Given the description of an element on the screen output the (x, y) to click on. 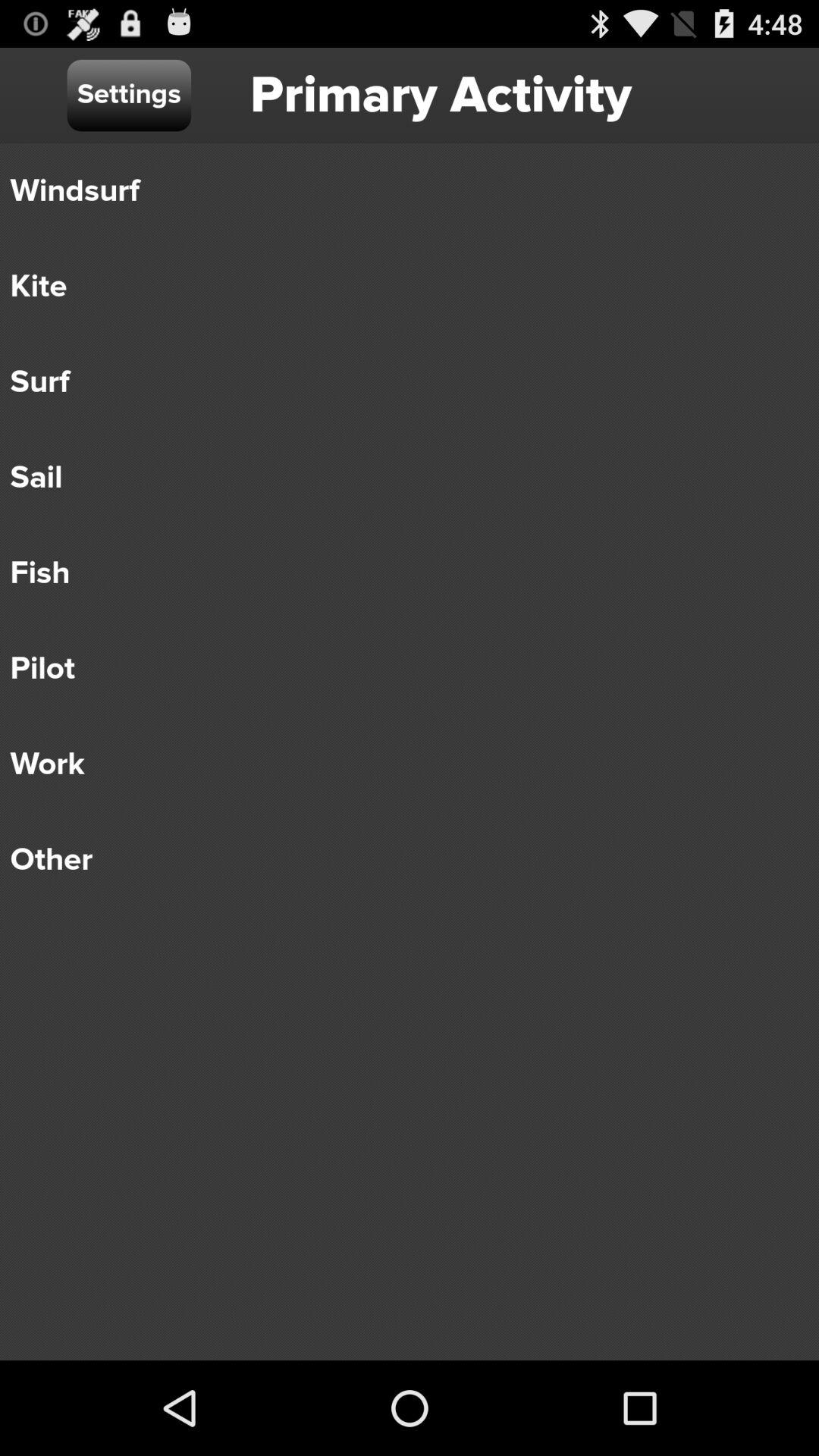
flip until surf (399, 381)
